Given the description of an element on the screen output the (x, y) to click on. 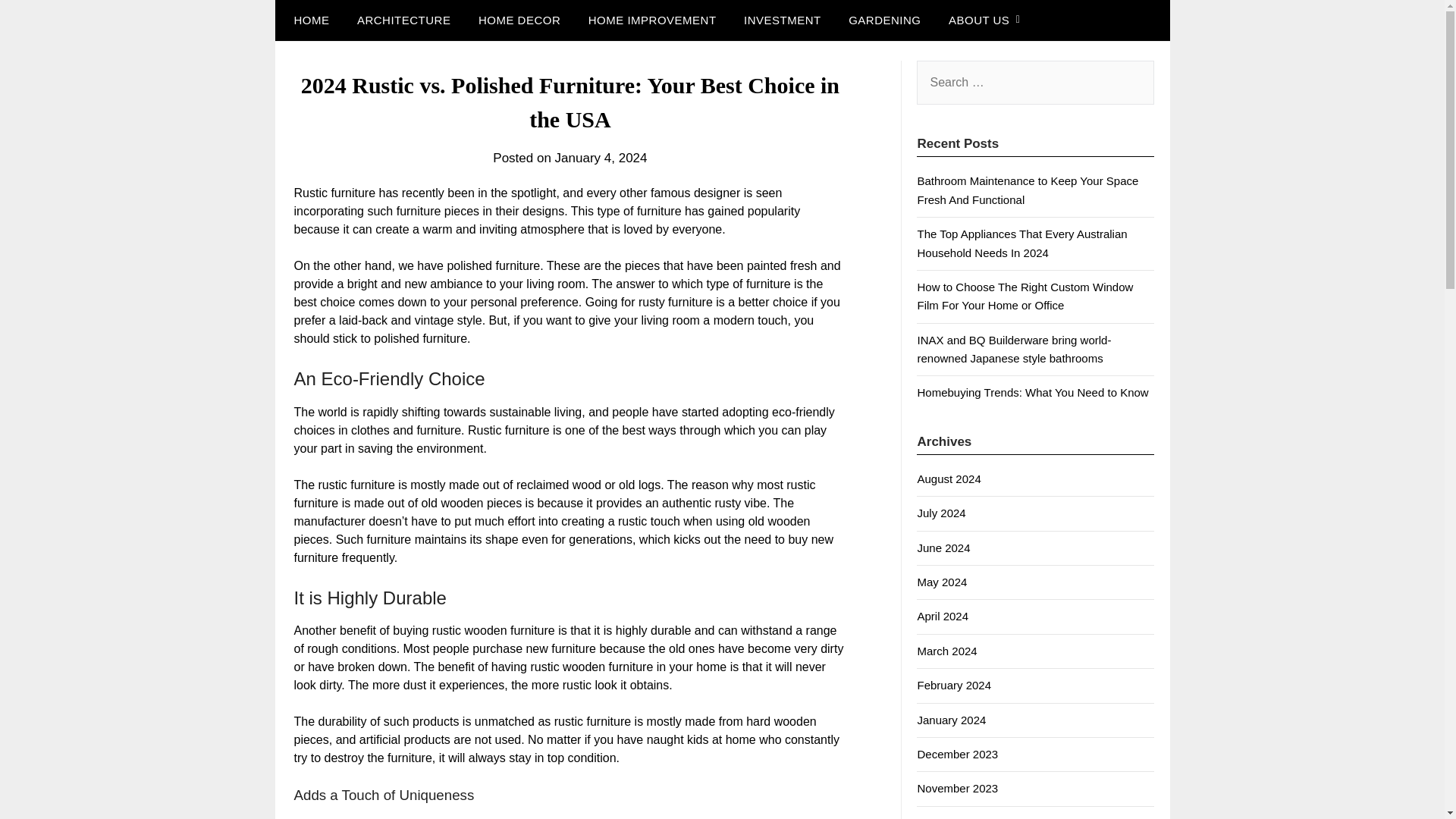
Bathroom Maintenance to Keep Your Space Fresh And Functional (1027, 189)
Search (38, 22)
May 2024 (941, 581)
January 2024 (951, 719)
ABOUT US (979, 20)
November 2023 (957, 788)
HOME IMPROVEMENT (652, 20)
July 2024 (941, 512)
April 2024 (942, 615)
